Given the description of an element on the screen output the (x, y) to click on. 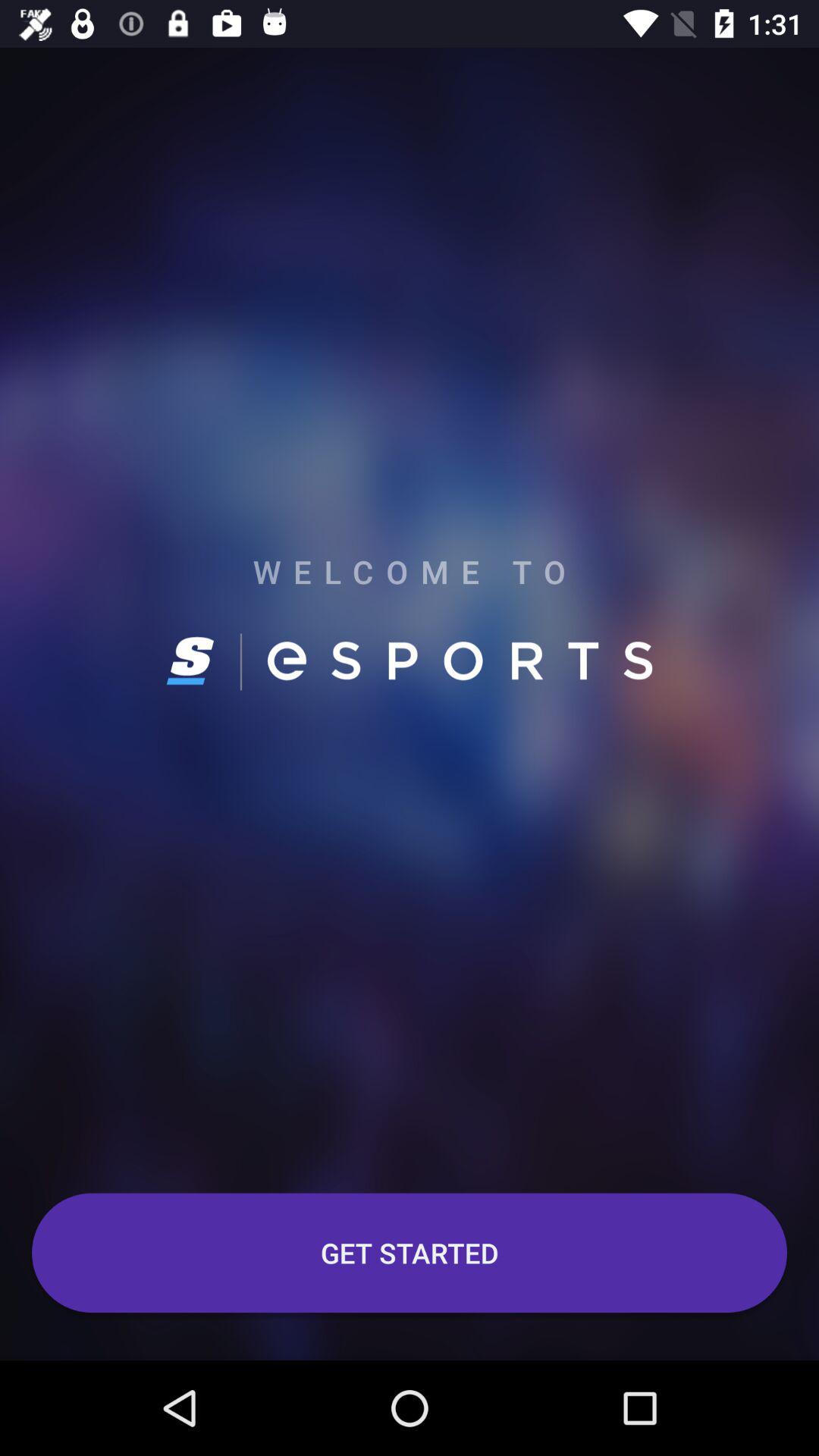
choose get started item (409, 1252)
